Given the description of an element on the screen output the (x, y) to click on. 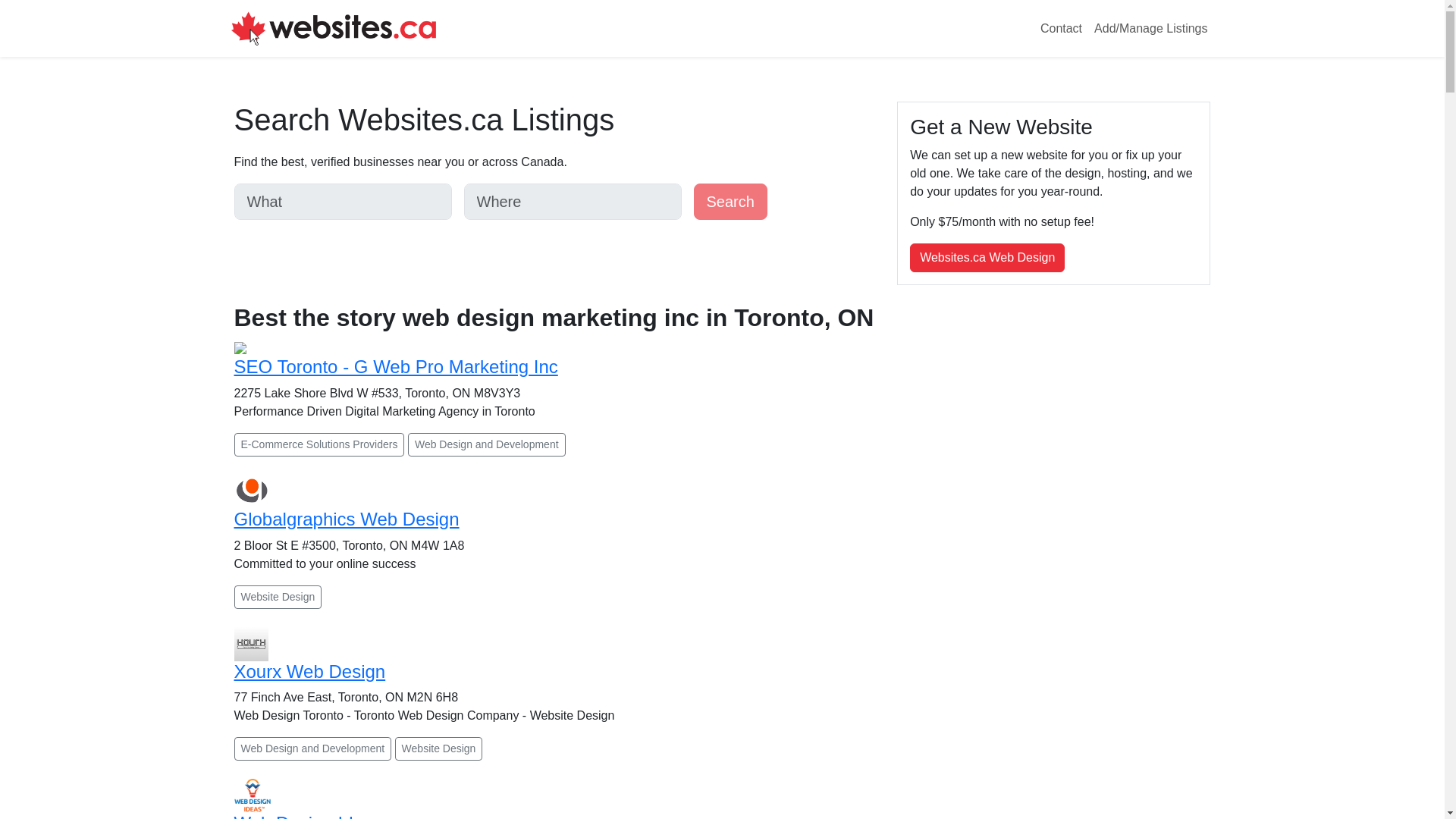
Websites.ca Web Design (987, 257)
Contact (1060, 28)
Globalgraphics Web Design (345, 518)
E-Commerce Solutions Providers (318, 444)
Search (730, 201)
Web Design and Development (486, 444)
SEO Toronto - G Web Pro Marketing Inc (394, 366)
Xourx Web Design (308, 670)
Web Design and Development (311, 748)
Web Design Ideas (306, 816)
